Given the description of an element on the screen output the (x, y) to click on. 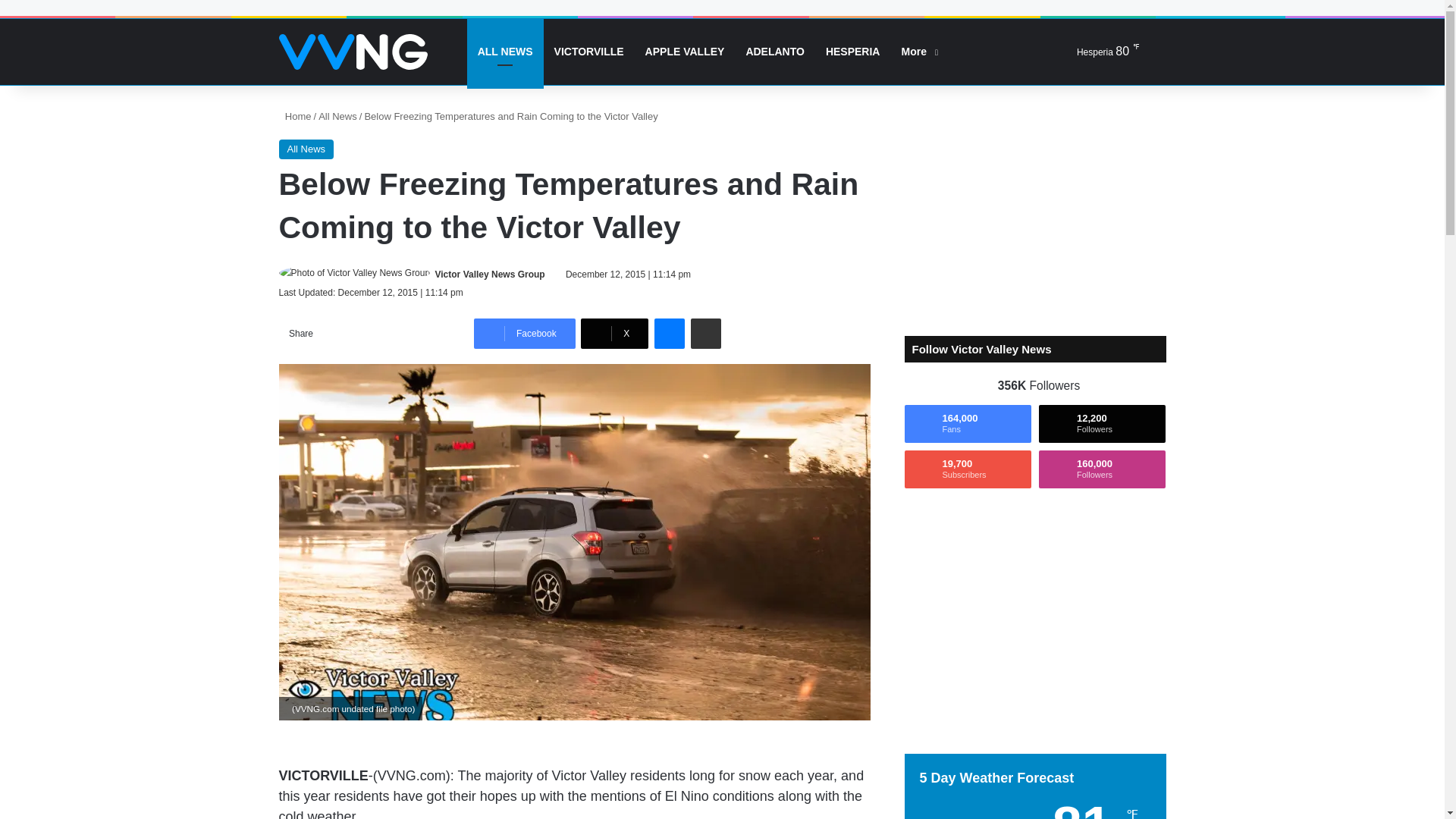
Victor Valley News Group (489, 274)
Victor Valley News Group (489, 274)
Facebook (524, 333)
VICTORVILLE (588, 51)
ALL NEWS (505, 51)
ADELANTO (775, 51)
All News (306, 148)
X (613, 333)
Home (295, 116)
All News (337, 116)
Share via Email (705, 333)
HESPERIA (853, 51)
X (613, 333)
APPLE VALLEY (684, 51)
Share via Email (705, 333)
